Given the description of an element on the screen output the (x, y) to click on. 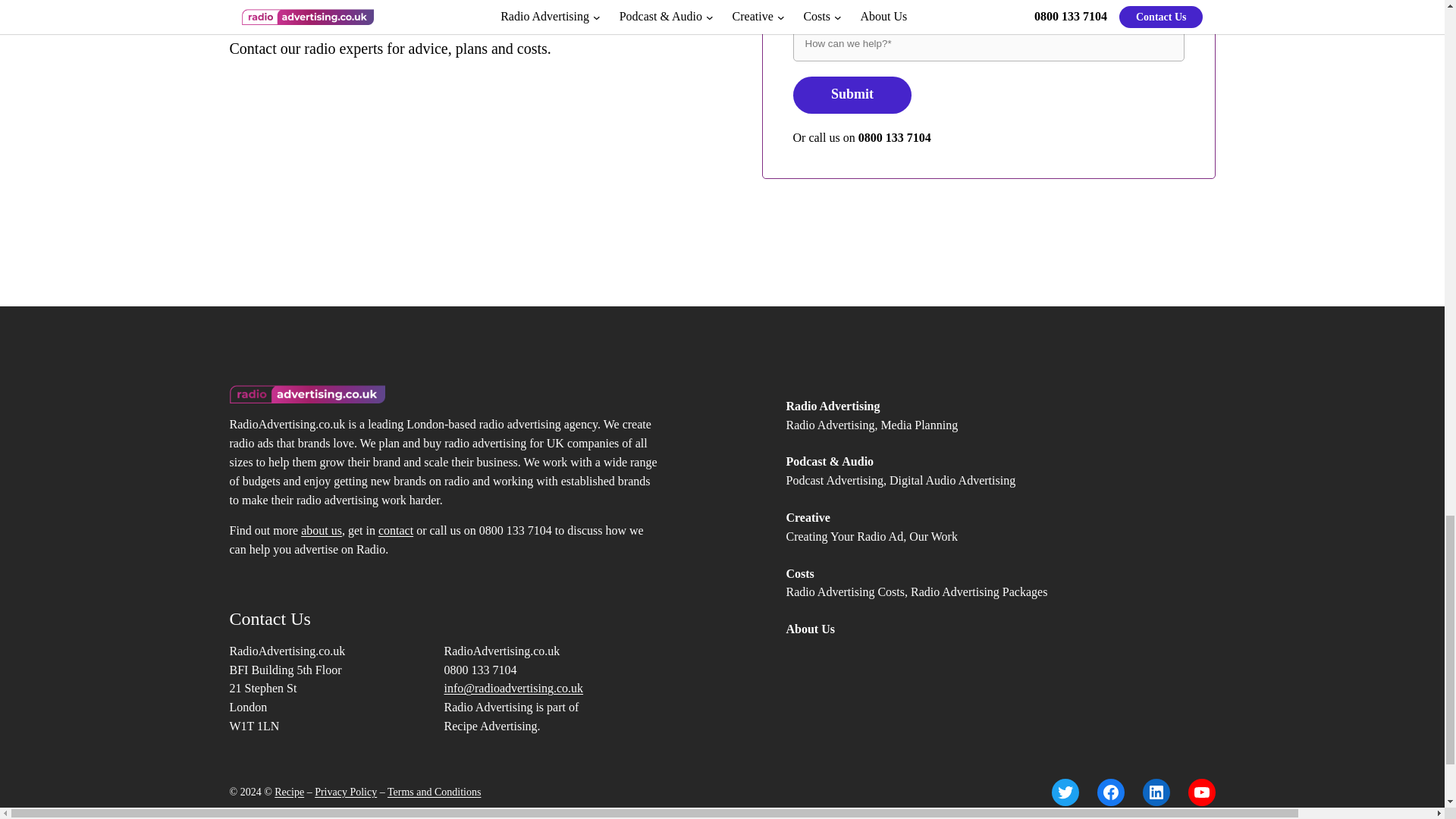
Submit (852, 94)
